Given the description of an element on the screen output the (x, y) to click on. 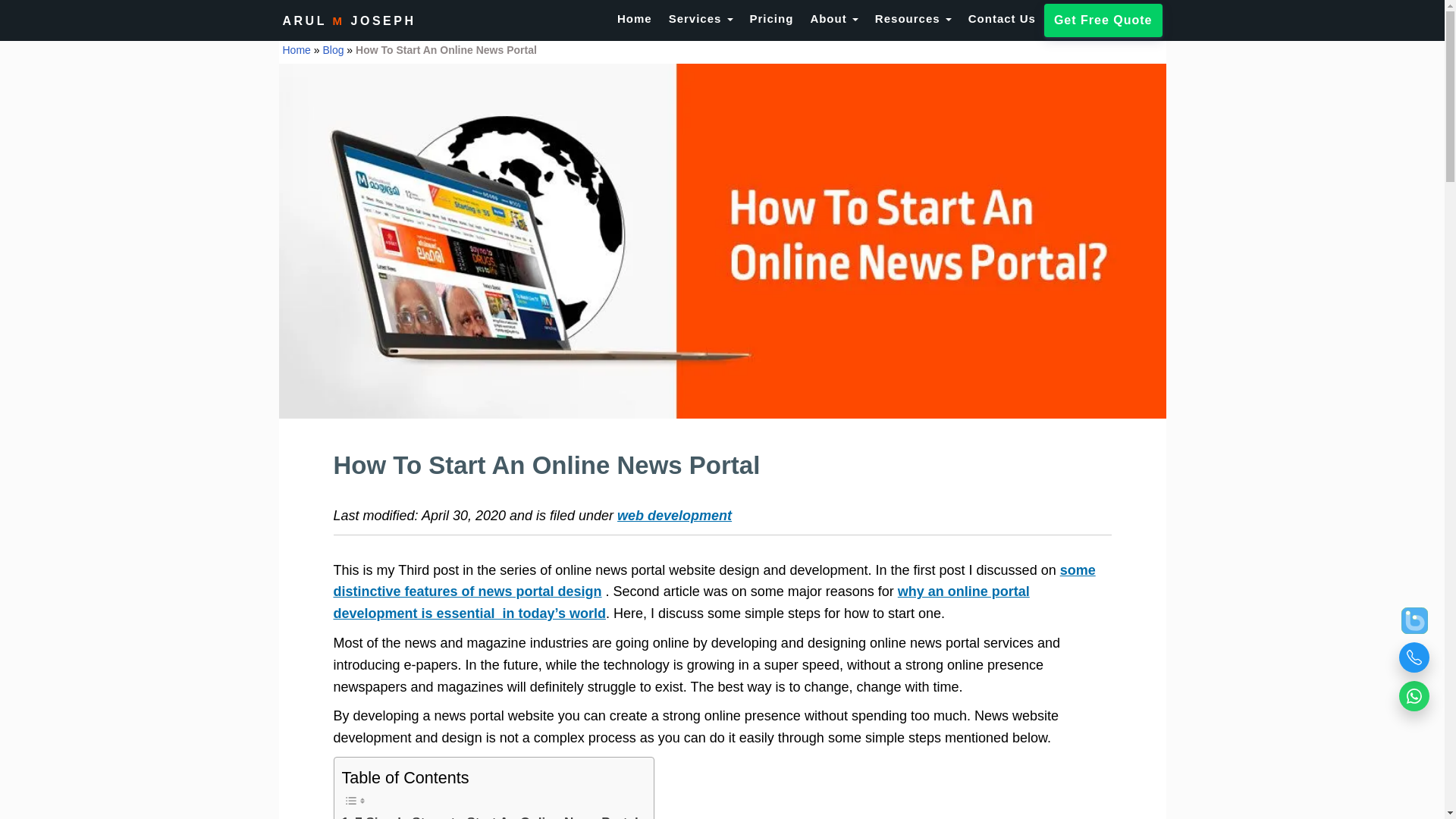
ARUL M JOSEPH (349, 18)
Services (701, 19)
Services (701, 19)
Home (634, 19)
Pricing (771, 19)
Home (634, 19)
Resources (912, 19)
About (834, 19)
